Given the description of an element on the screen output the (x, y) to click on. 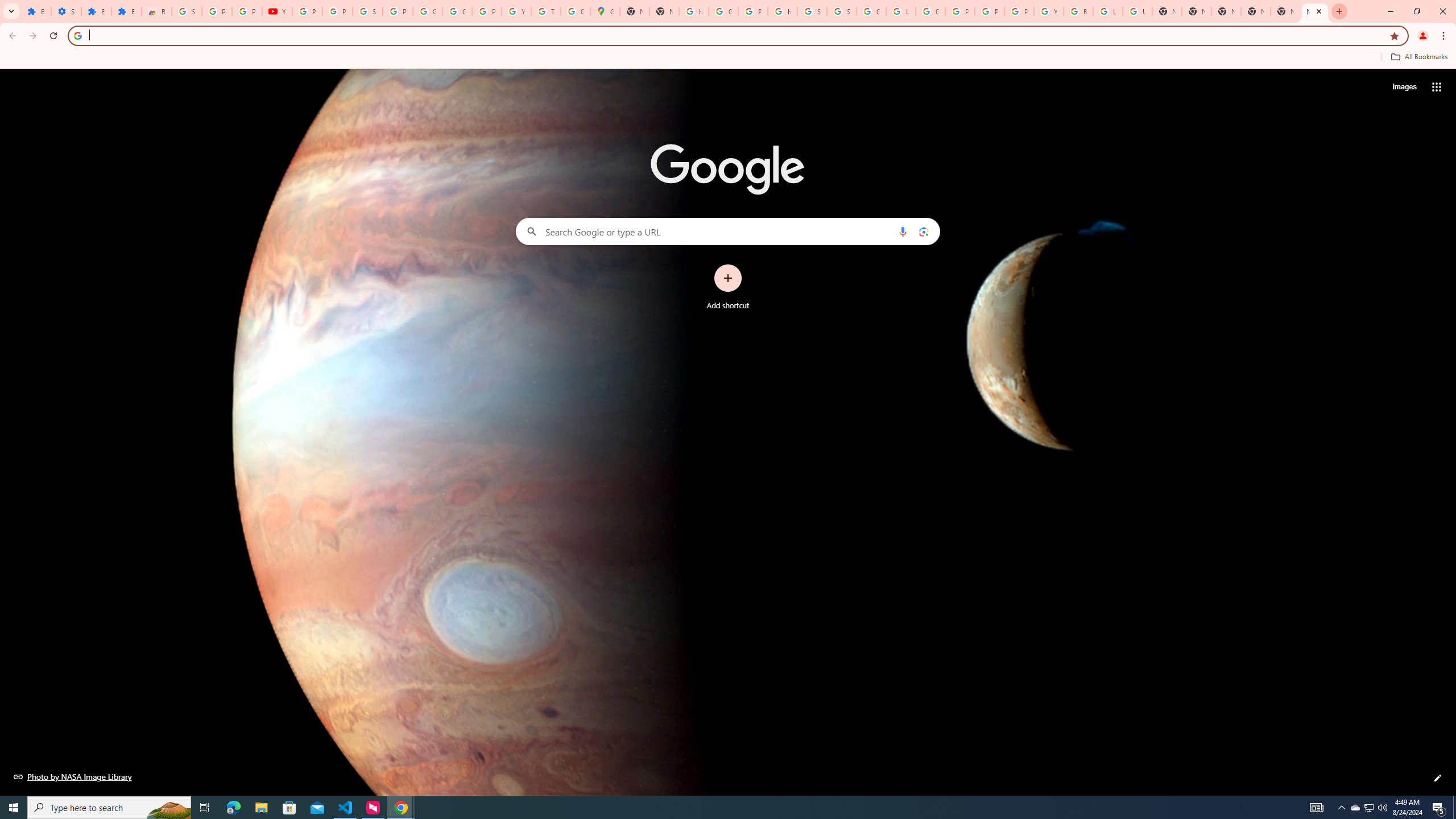
New Tab (1314, 11)
New Tab (1284, 11)
Customize this page (1437, 778)
Extensions (126, 11)
